Given the description of an element on the screen output the (x, y) to click on. 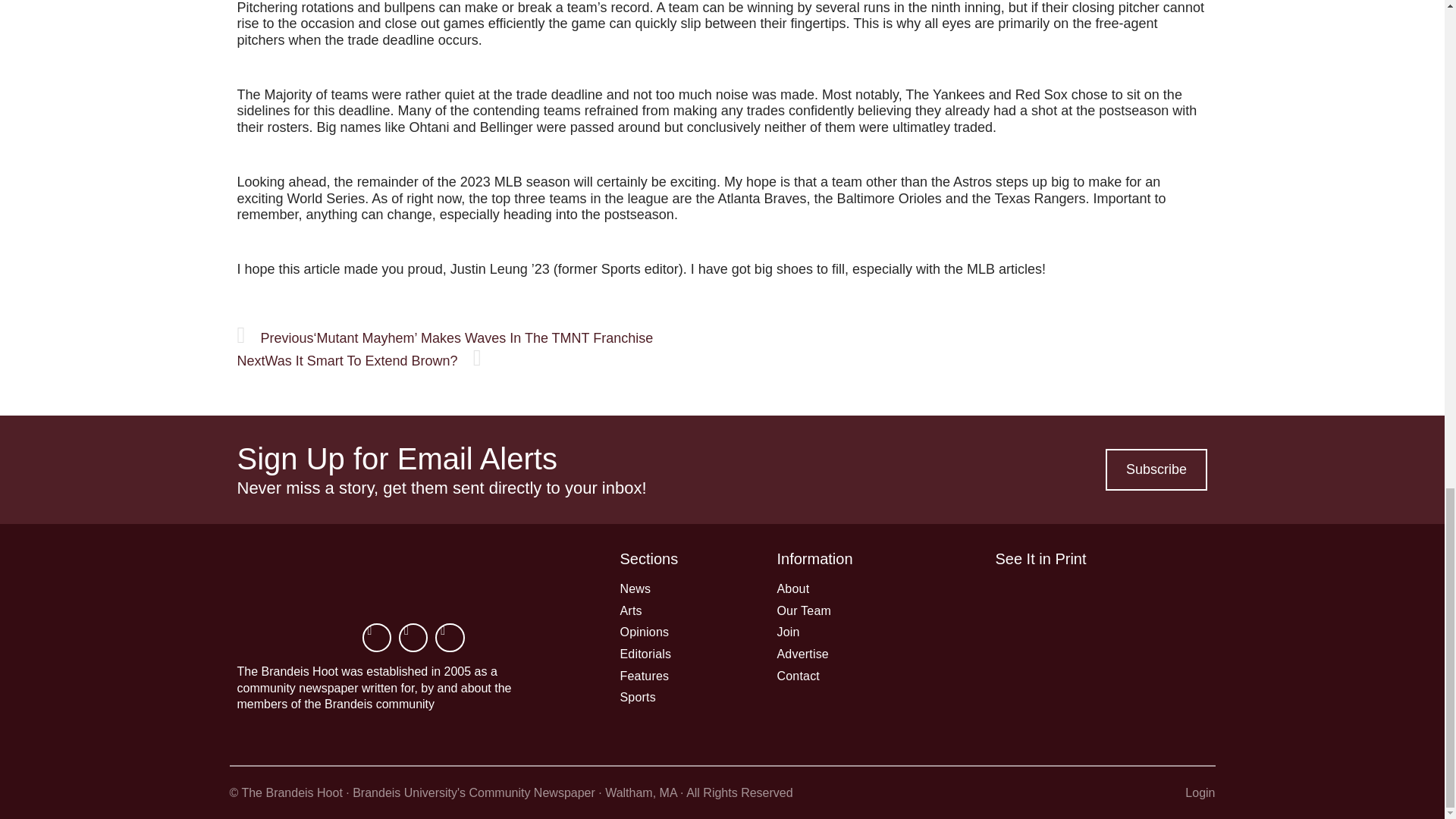
NextWas It Smart To Extend Brown? (357, 360)
News (671, 589)
Editorials (671, 653)
Arts (671, 611)
Opinions (671, 632)
Subscribe (1156, 469)
